Given the description of an element on the screen output the (x, y) to click on. 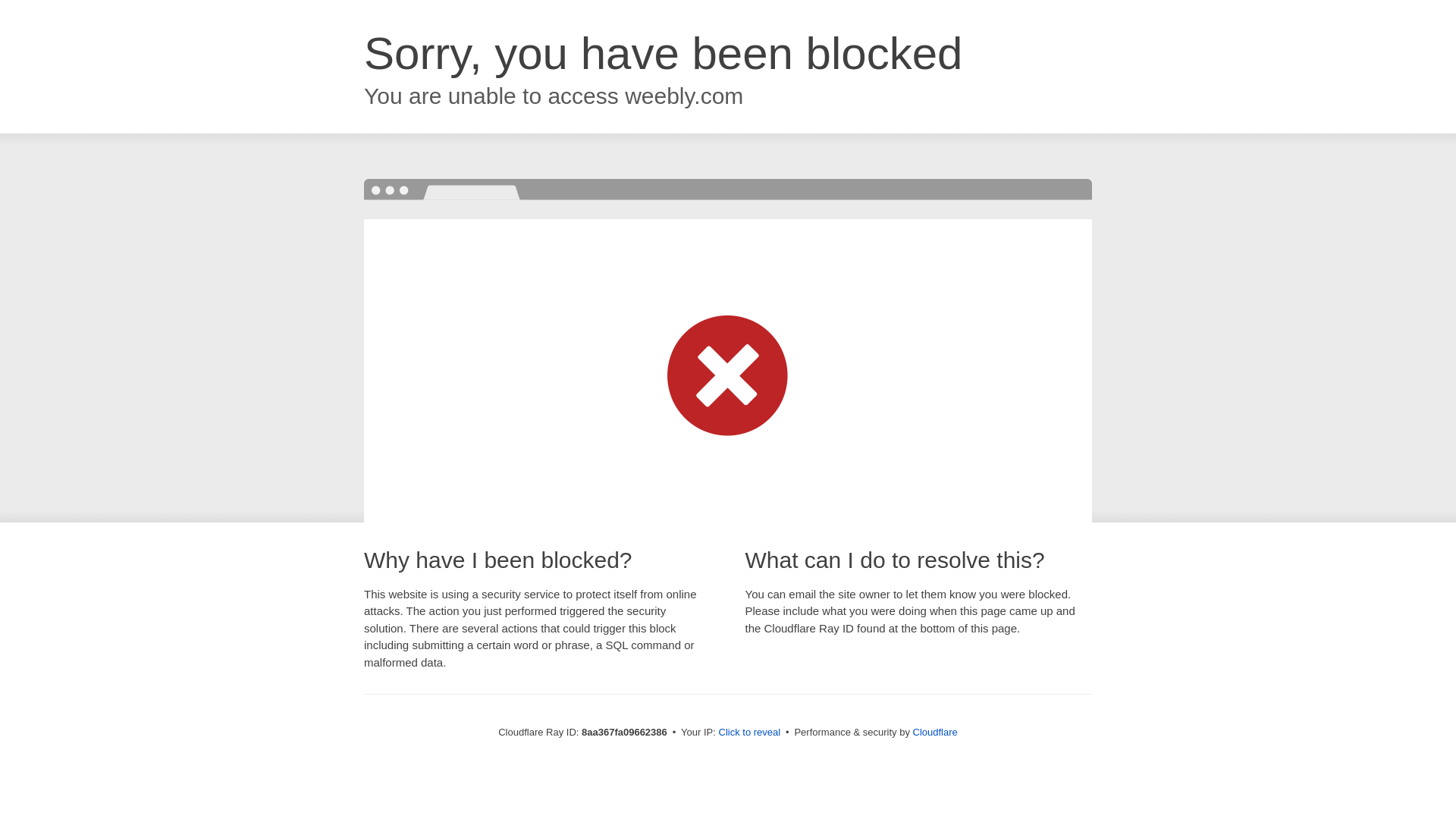
Cloudflare (935, 731)
Click to reveal (749, 732)
